Given the description of an element on the screen output the (x, y) to click on. 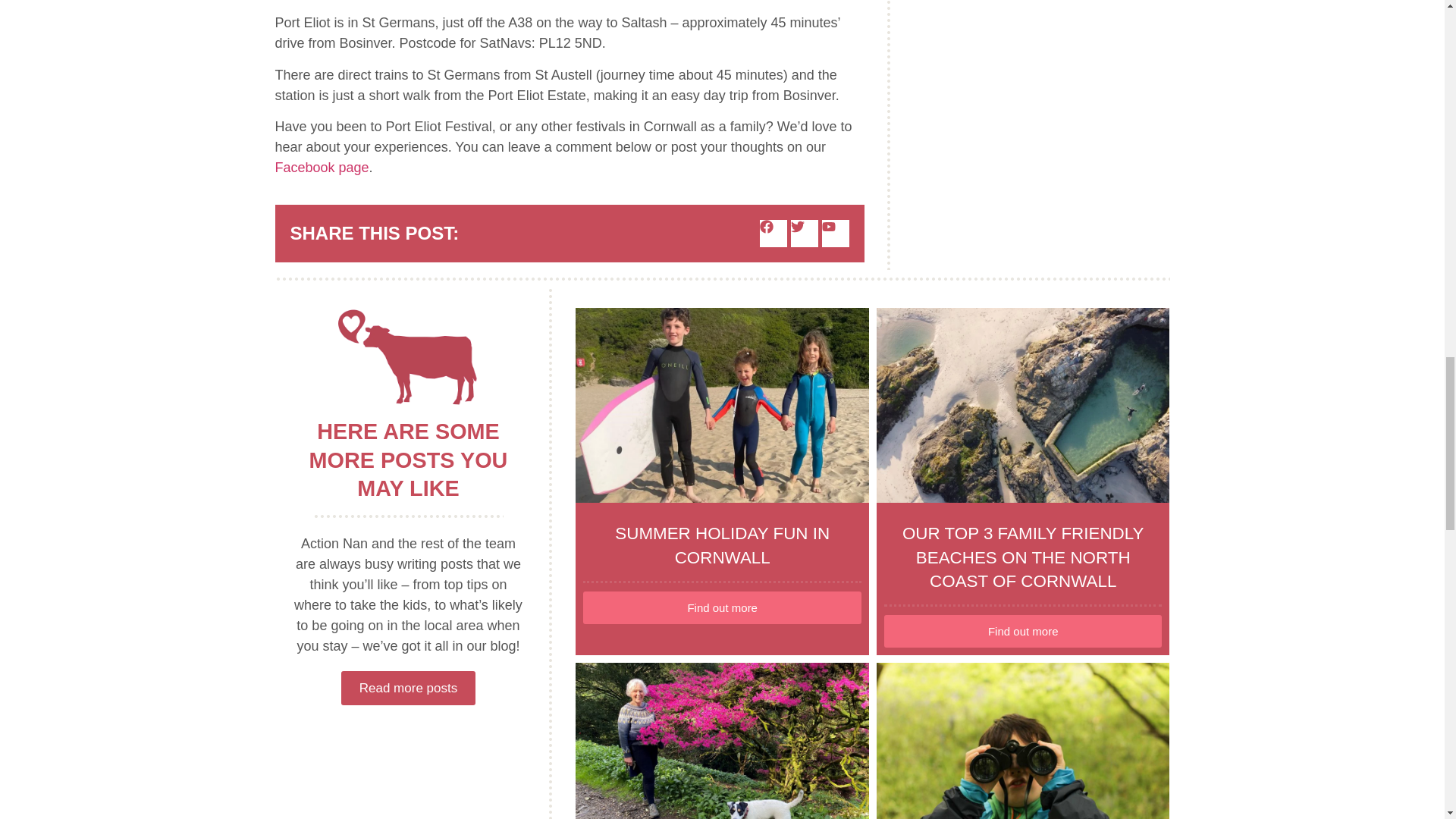
birdwatch (1023, 740)
crantock beach kids (722, 405)
sea pool perranporth (1023, 405)
pat with azealia flowers (722, 740)
